Given the description of an element on the screen output the (x, y) to click on. 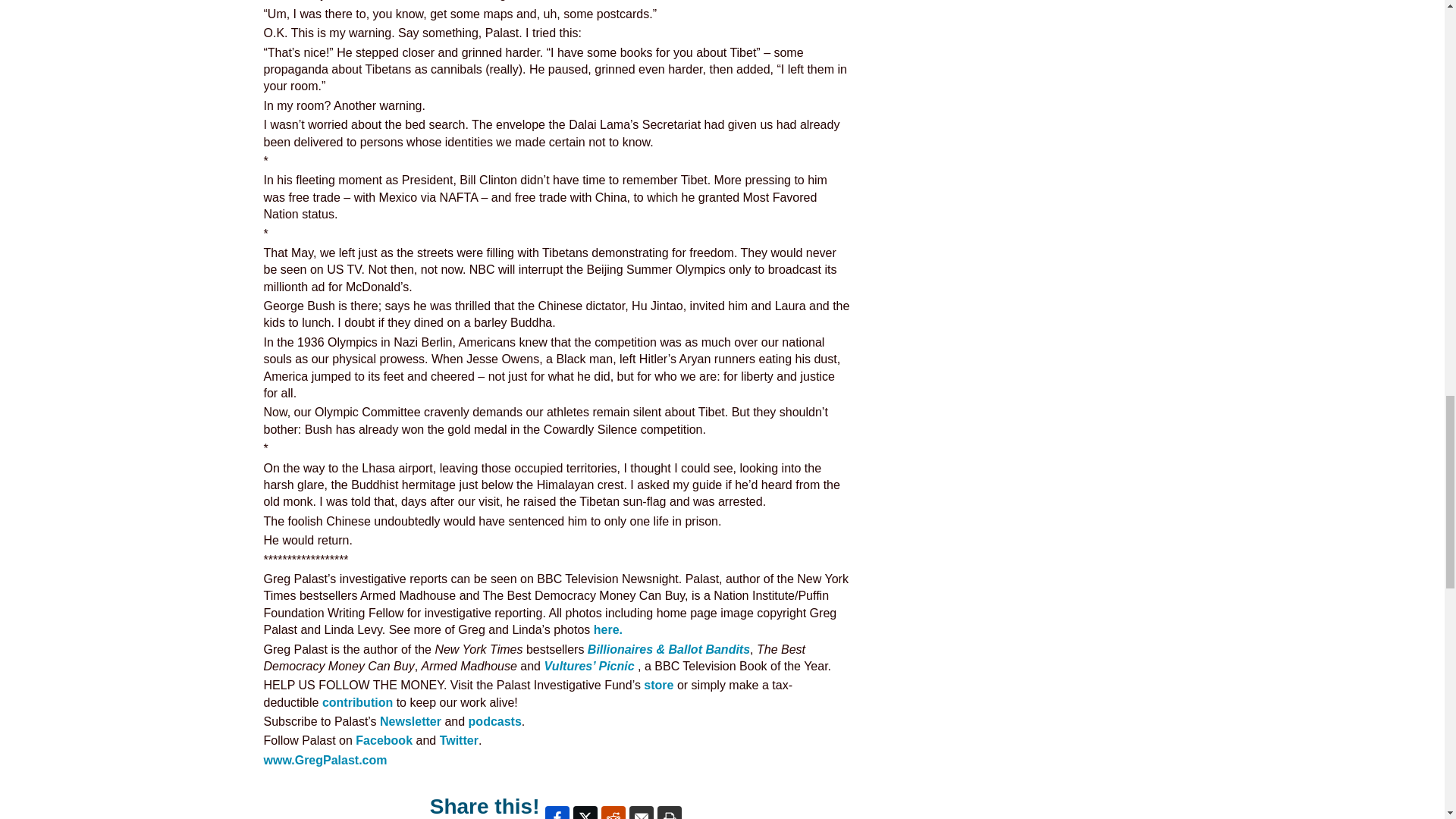
Share on Print (669, 812)
Share on Twitter (584, 812)
Share on Reddit (613, 812)
Share on Facebook (556, 812)
Share on Email (640, 812)
